Given the description of an element on the screen output the (x, y) to click on. 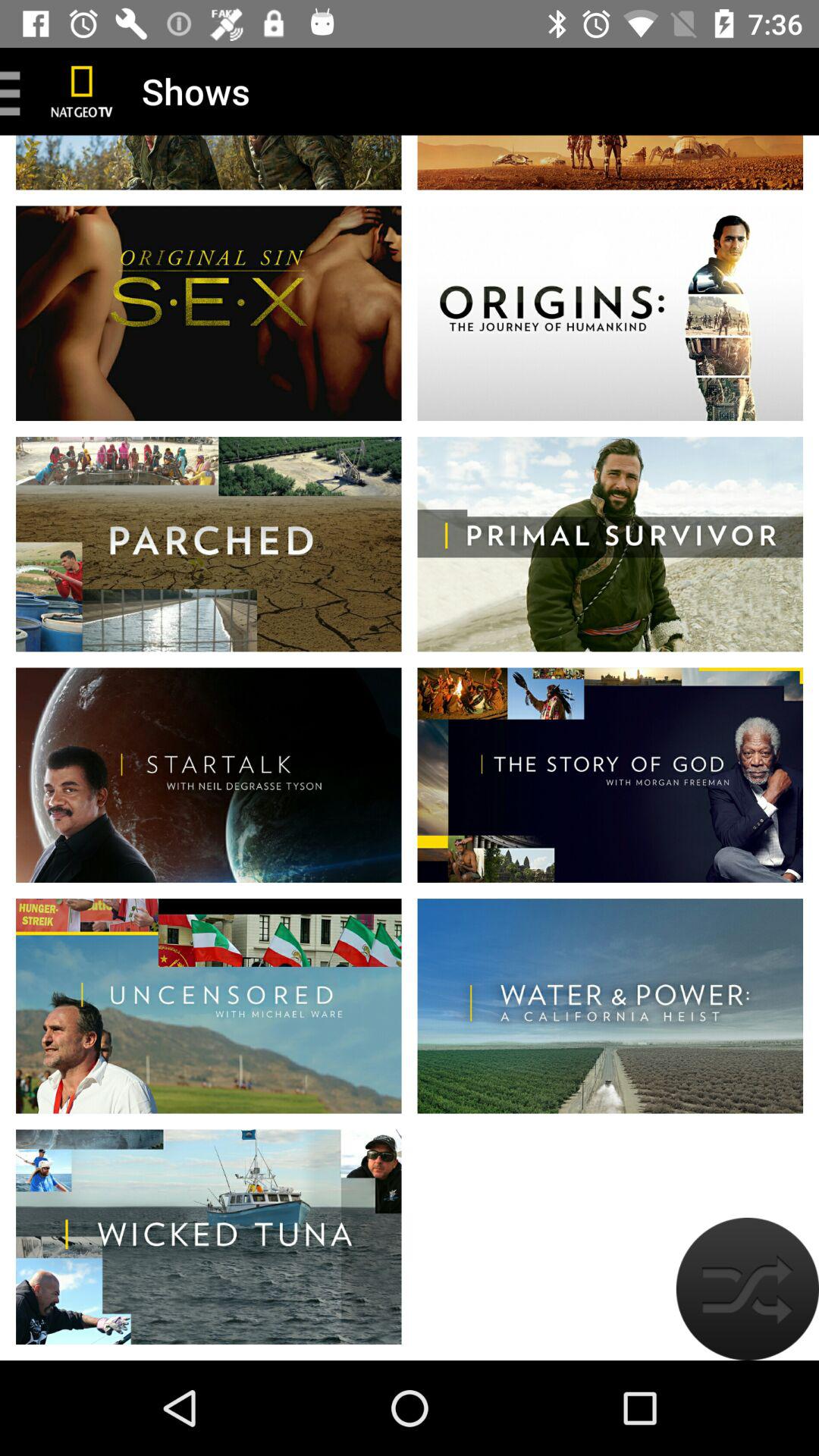
go to home (81, 91)
